Given the description of an element on the screen output the (x, y) to click on. 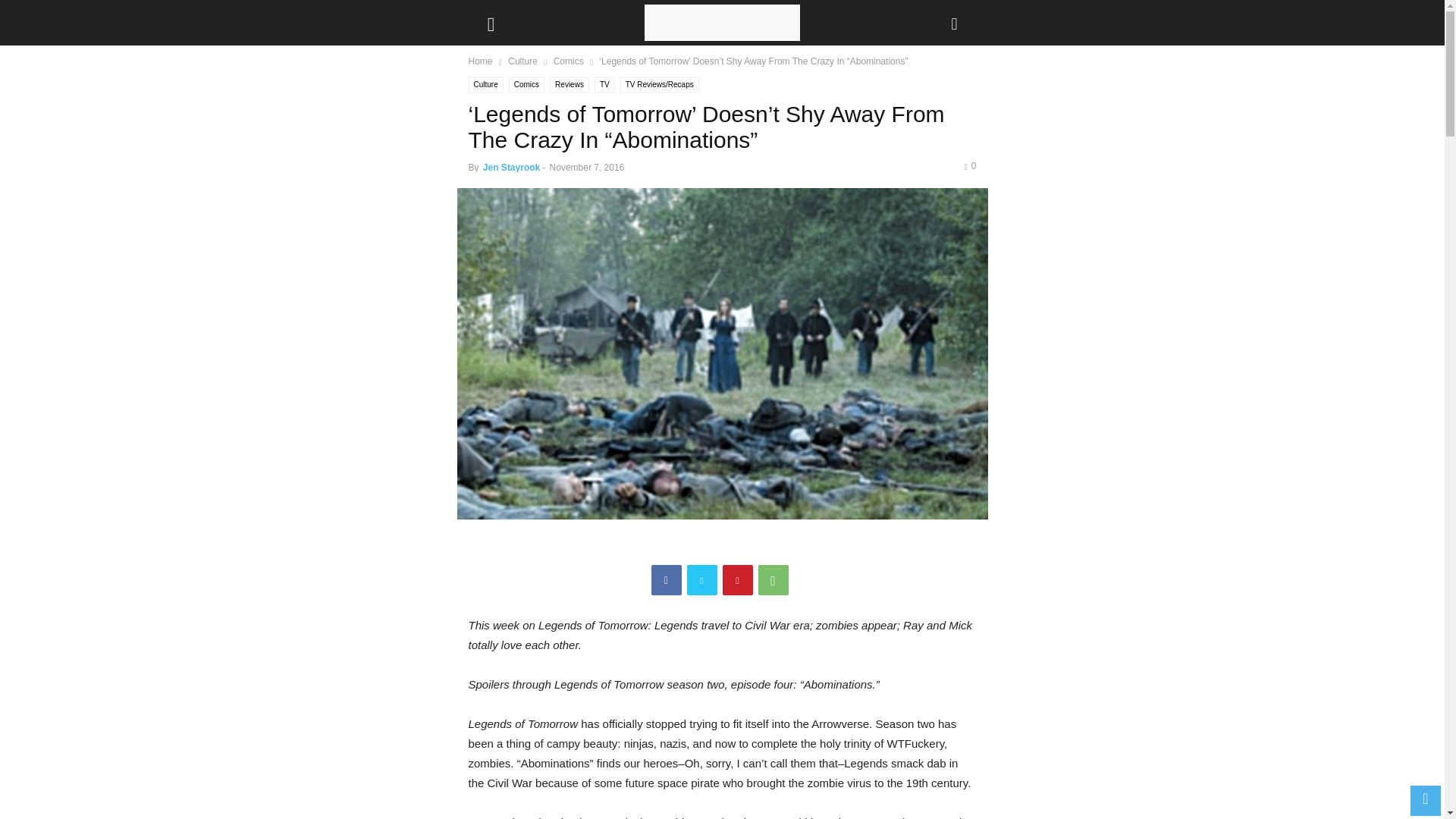
TV (604, 84)
View all posts in Culture (522, 61)
Comics (568, 61)
Twitter (702, 580)
Culture (485, 84)
Jen Stayrook (511, 167)
Culture (522, 61)
Reviews (569, 84)
View all posts in Comics (568, 61)
0 (969, 165)
